Given the description of an element on the screen output the (x, y) to click on. 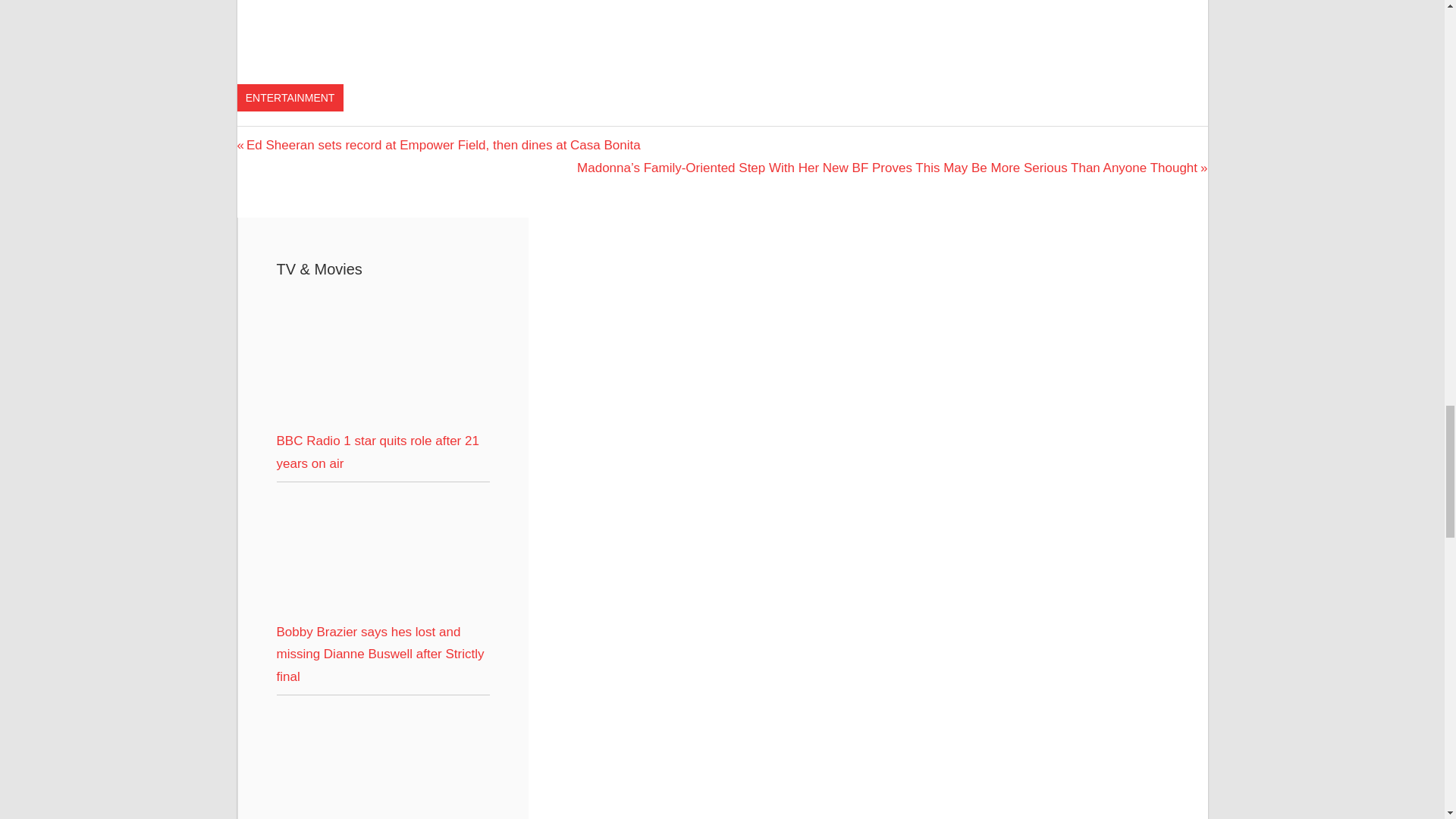
ENTERTAINMENT (288, 97)
BBC Radio 1 star quits role after 21 years on air (382, 358)
BBC Radio 1 star quits role after 21 years on air (382, 418)
BBC Radio 1 star quits role after 21 years on air (377, 452)
